Given the description of an element on the screen output the (x, y) to click on. 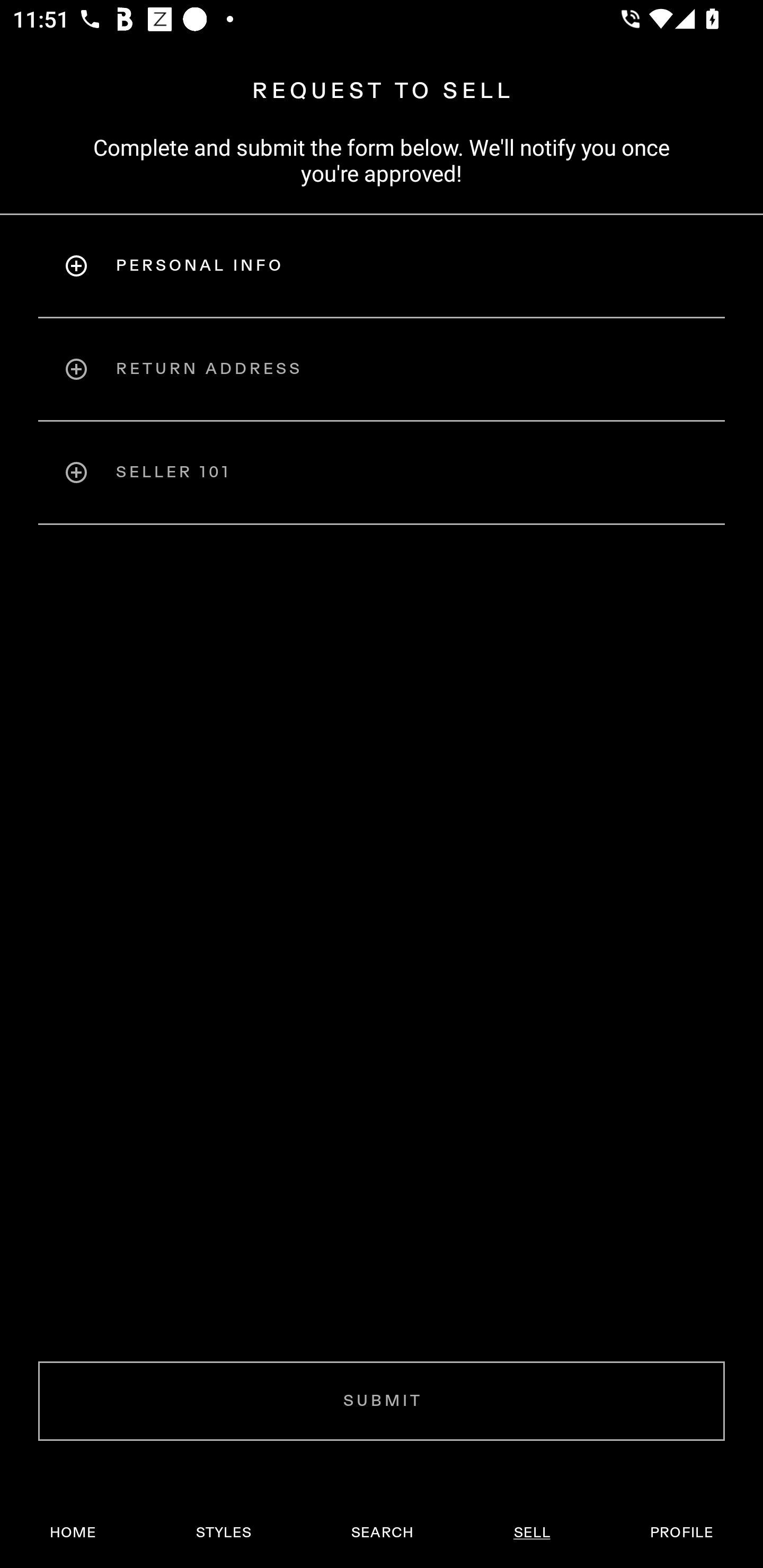
PERSONAL INFO (381, 265)
RETURN ADDRESS (381, 369)
SELLER 101 (381, 472)
SUBMIT (381, 1400)
HOME (72, 1532)
STYLES (222, 1532)
SEARCH (381, 1532)
SELL (531, 1532)
PROFILE (681, 1532)
